Given the description of an element on the screen output the (x, y) to click on. 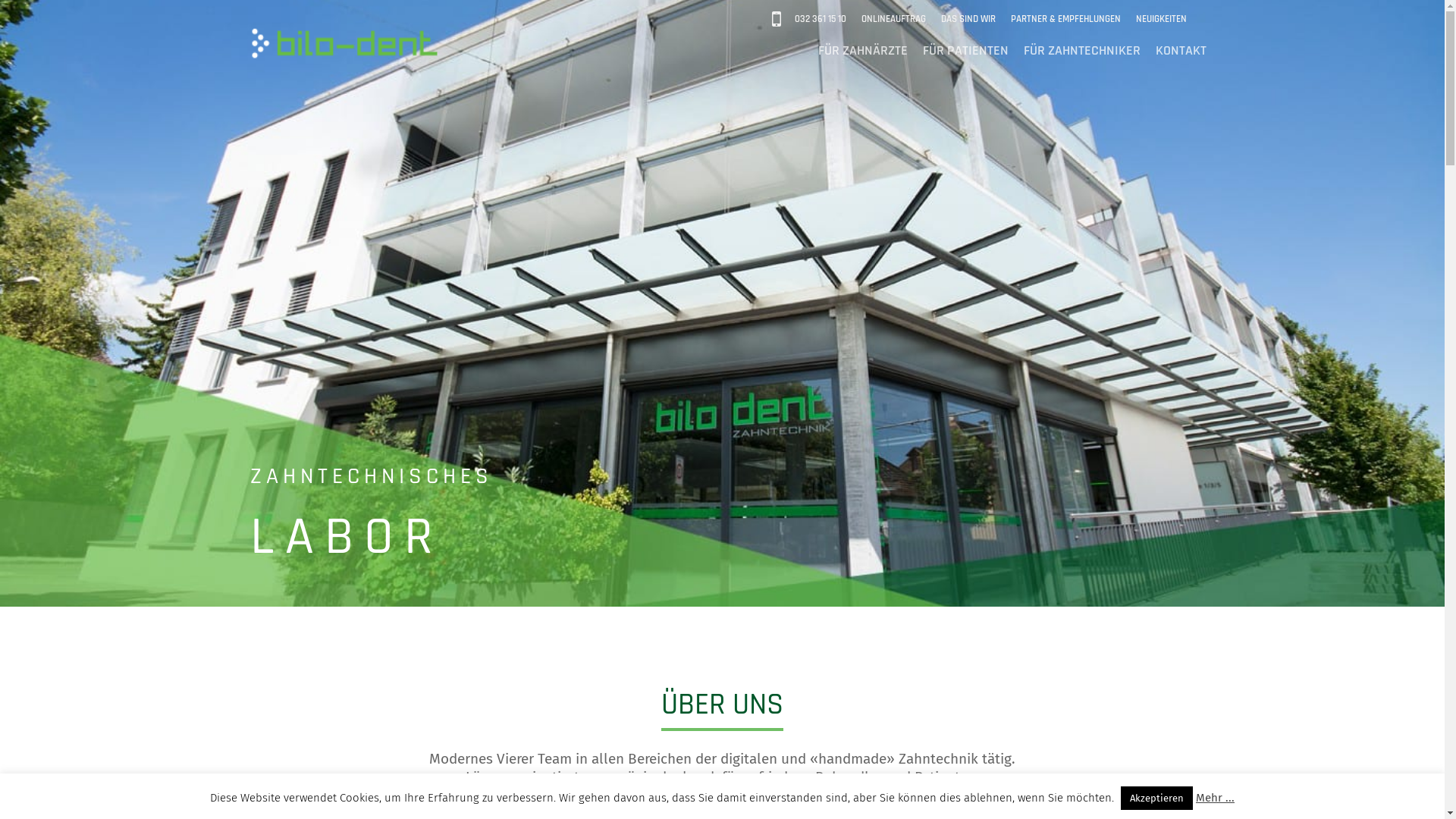
PARTNER & EMPFEHLUNGEN Element type: text (1065, 19)
KONTAKT Element type: text (1180, 49)
DAS SIND WIR Element type: text (968, 19)
NEUIGKEITEN Element type: text (1161, 19)
Akzeptieren Element type: text (1156, 797)
032 361 15 10 Element type: text (820, 19)
Mehr ... Element type: text (1214, 797)
ONLINEAUFTRAG Element type: text (893, 19)
